Given the description of an element on the screen output the (x, y) to click on. 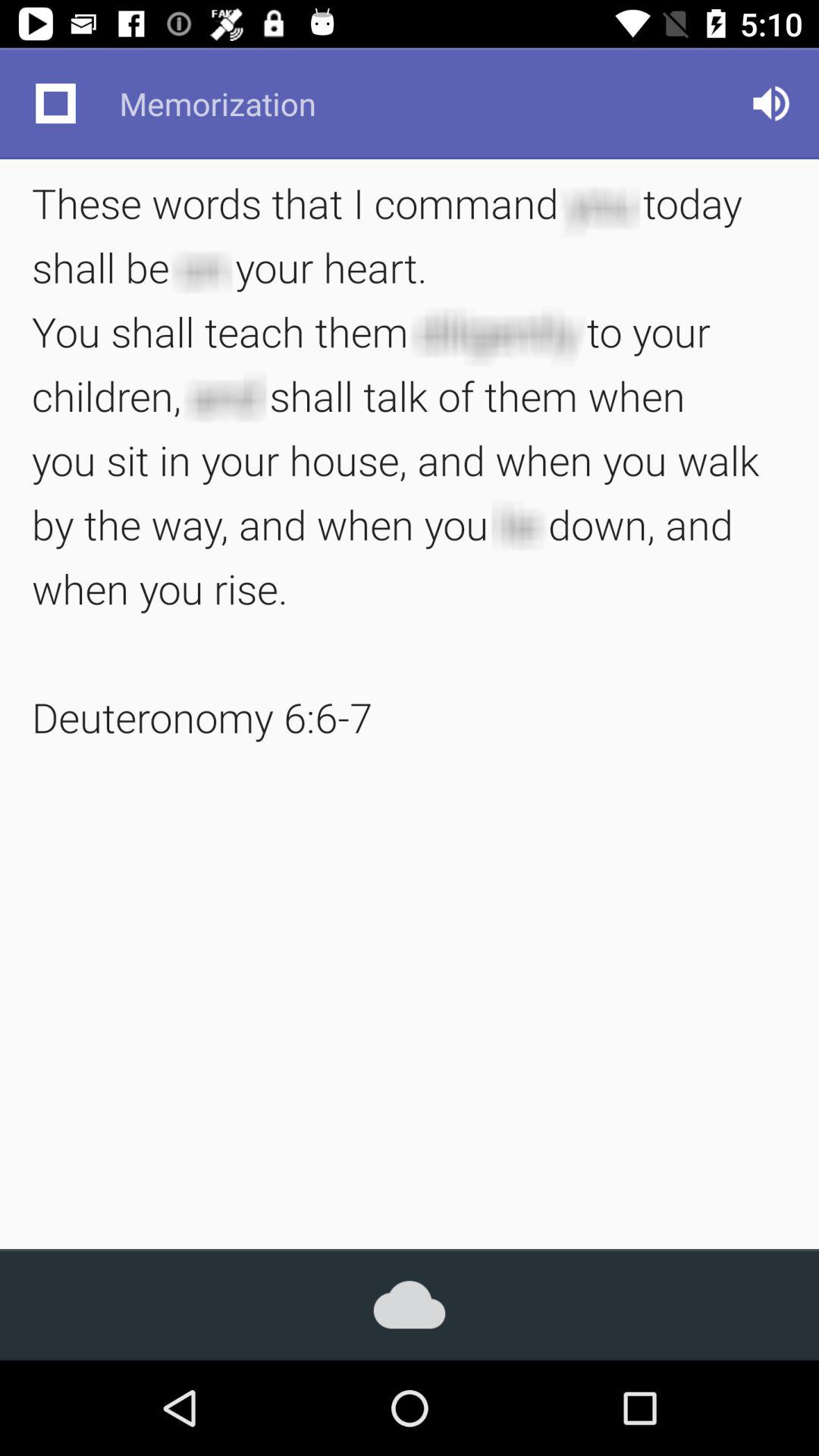
launch icon below the these words that (409, 1304)
